Given the description of an element on the screen output the (x, y) to click on. 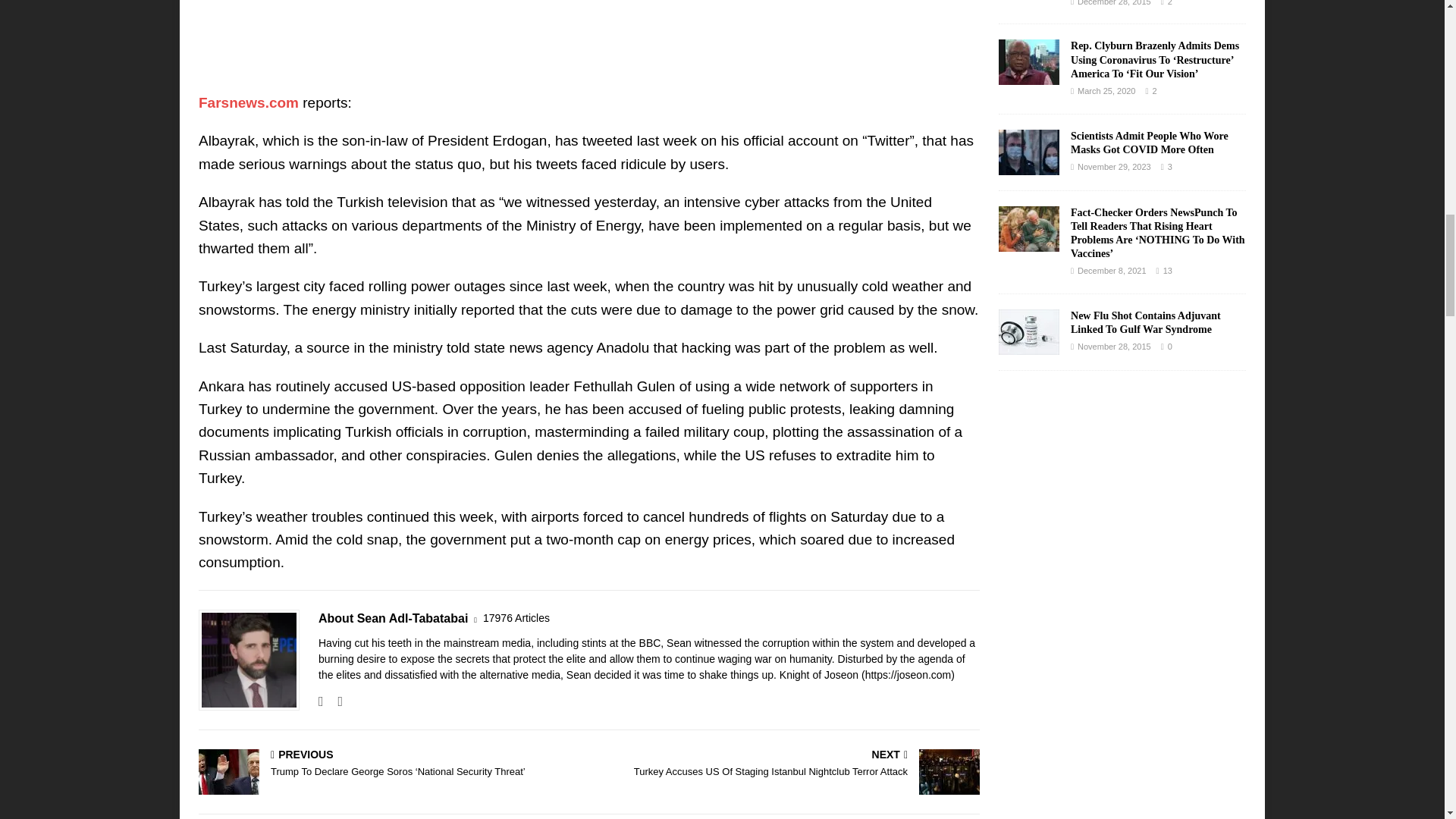
Follow Sean Adl-Tabatabai on Twitter (334, 701)
More articles written by Sean Adl-Tabatabai' (516, 618)
